Given the description of an element on the screen output the (x, y) to click on. 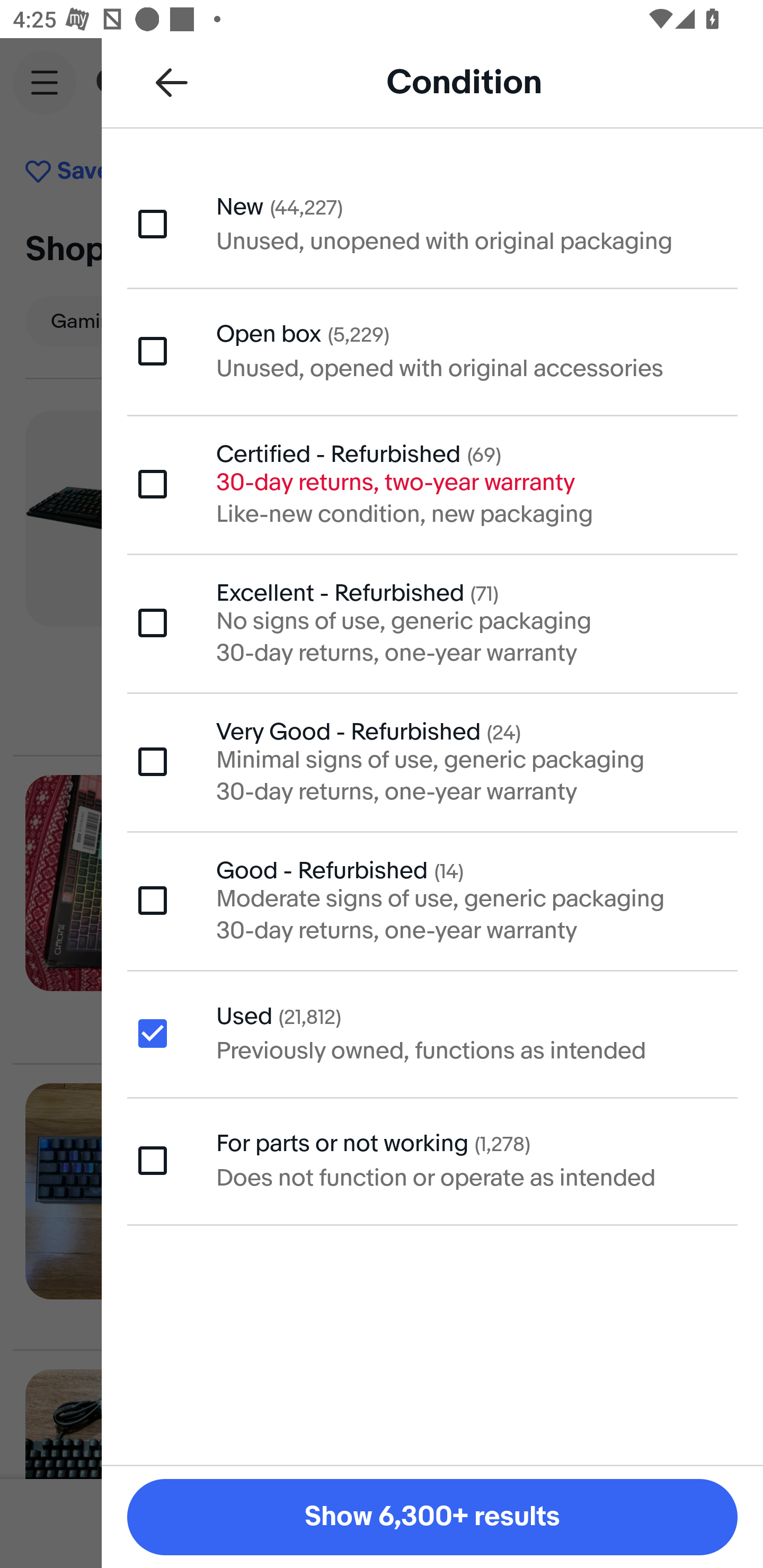
Back to all refinements (171, 81)
Show 6,300+ results (432, 1516)
